Given the description of an element on the screen output the (x, y) to click on. 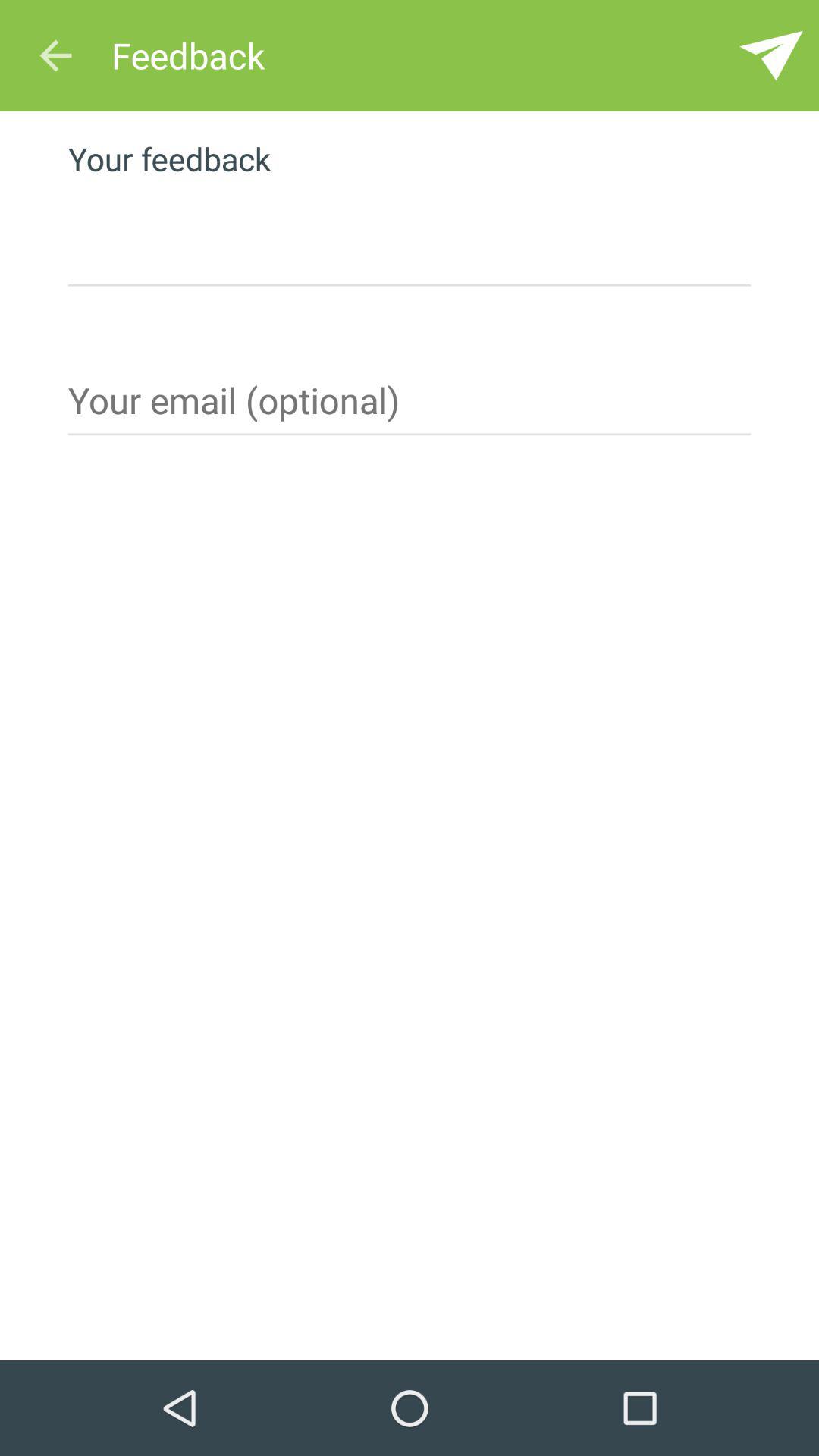
select email address field (409, 406)
